Given the description of an element on the screen output the (x, y) to click on. 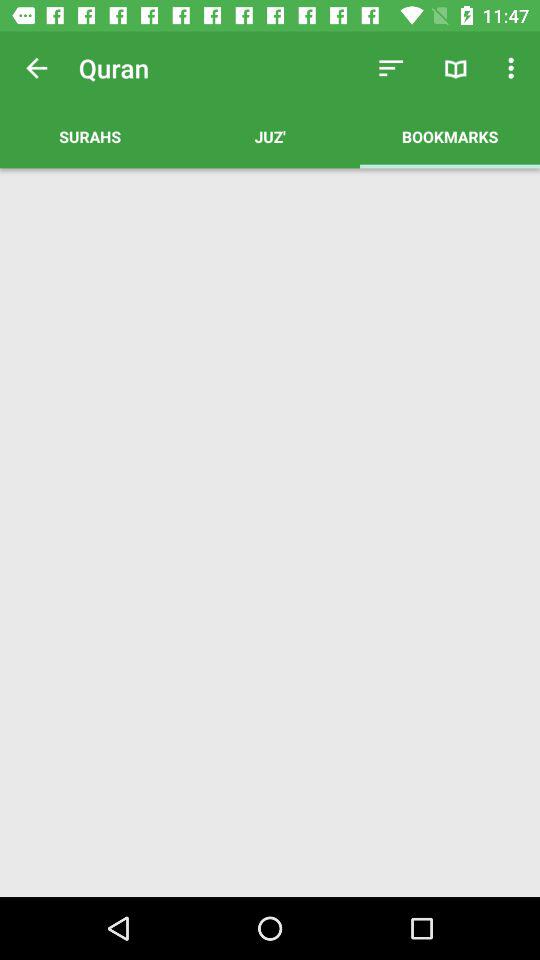
turn off bookmarks (450, 136)
